Given the description of an element on the screen output the (x, y) to click on. 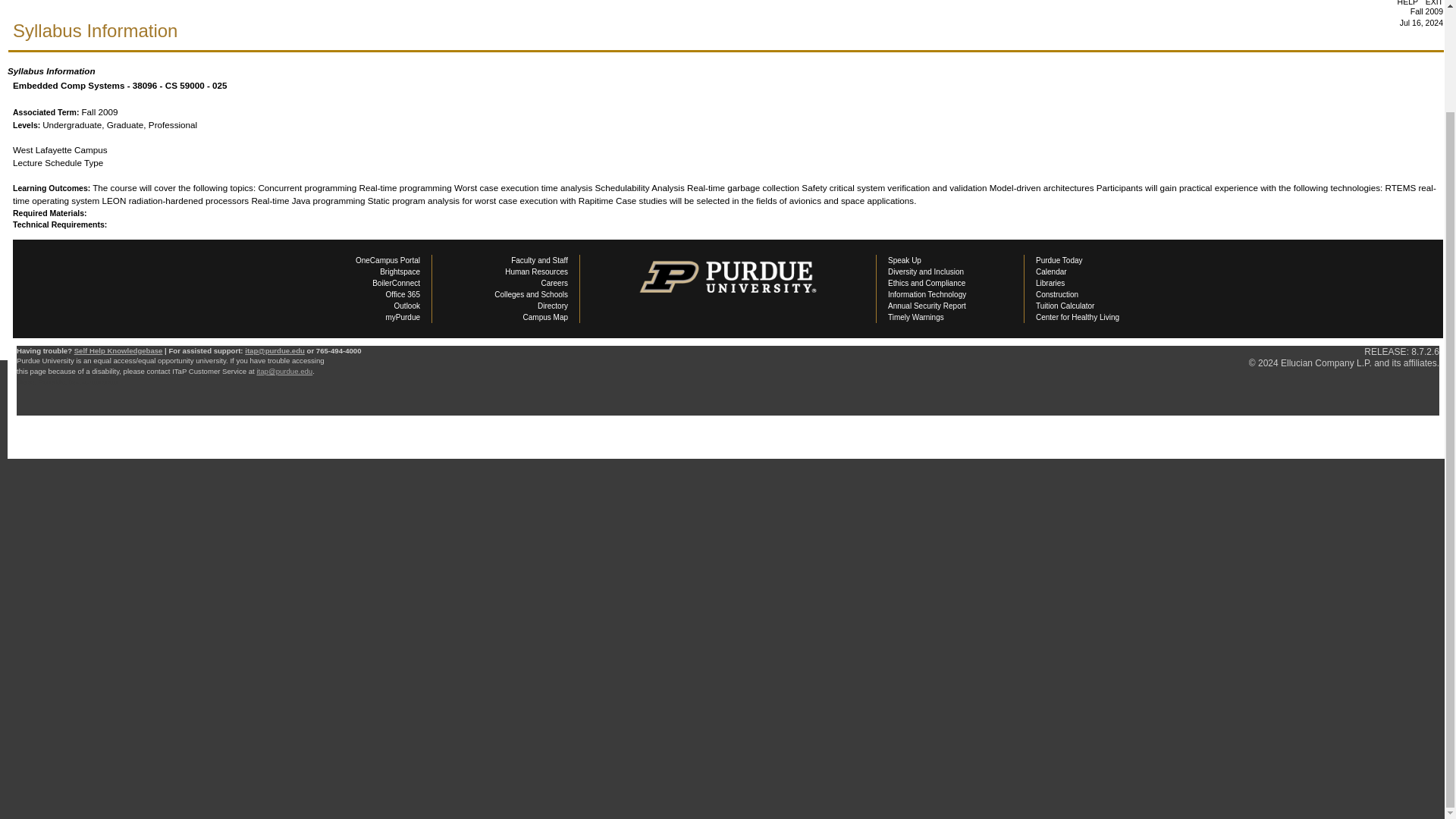
Campus Map (544, 316)
Brightspace (400, 271)
Directory (552, 306)
Calendar (1051, 271)
EXIT (1433, 2)
View Catalog Entry (50, 248)
Timely Warnings (915, 316)
Office 365 (402, 294)
OneCampus Portal (387, 260)
Colleges and Schools (531, 294)
BoilerConnect (396, 283)
Diversity and Inclusion (925, 271)
Libraries (1049, 283)
Purdue Today (1059, 260)
Speak Up (904, 260)
